Given the description of an element on the screen output the (x, y) to click on. 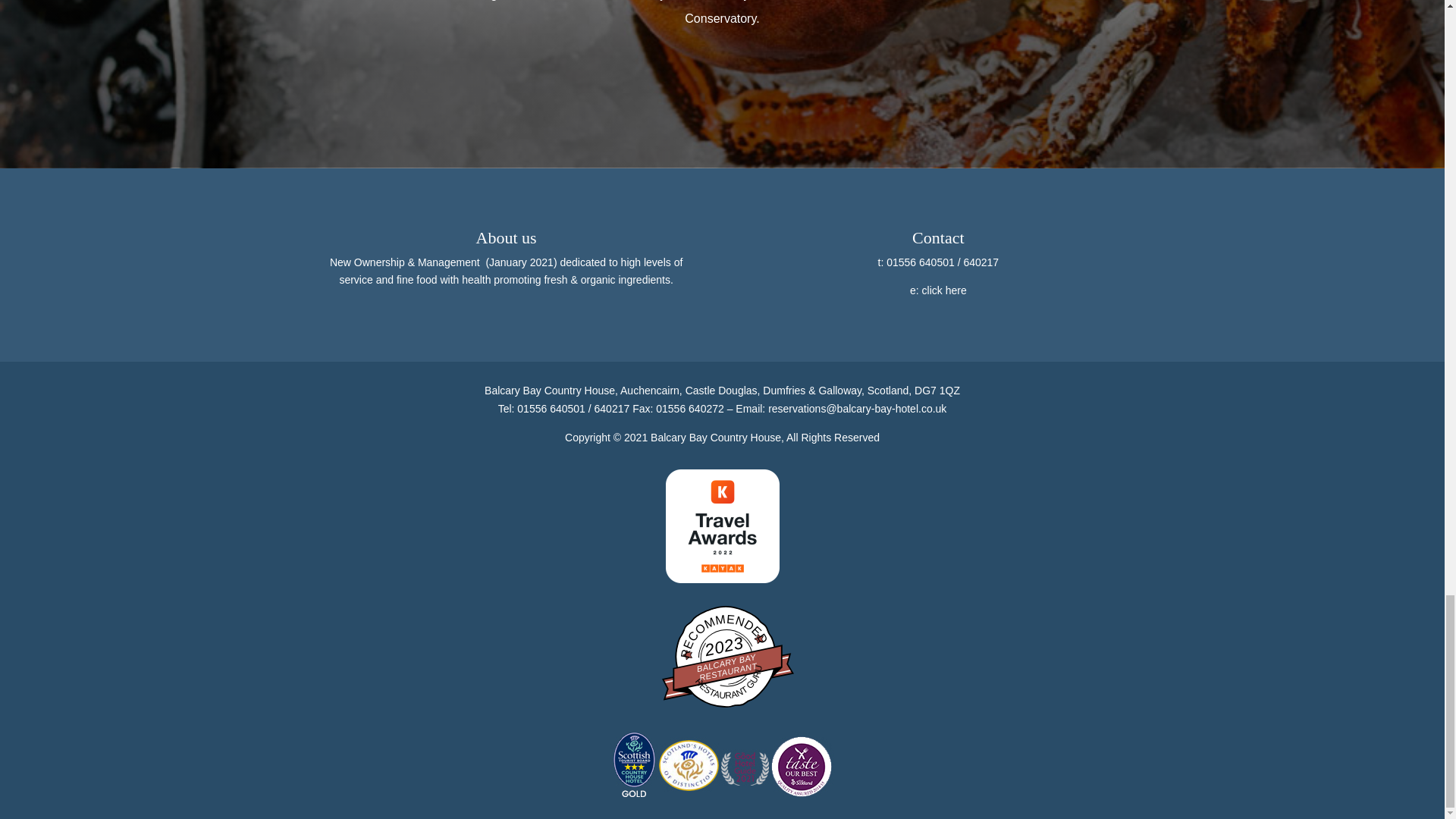
BALCARY BAY RESTAURANT (725, 656)
RECOMMENDED (726, 660)
click here (943, 290)
RESTAURANT GURU (725, 661)
logos (722, 764)
